Given the description of an element on the screen output the (x, y) to click on. 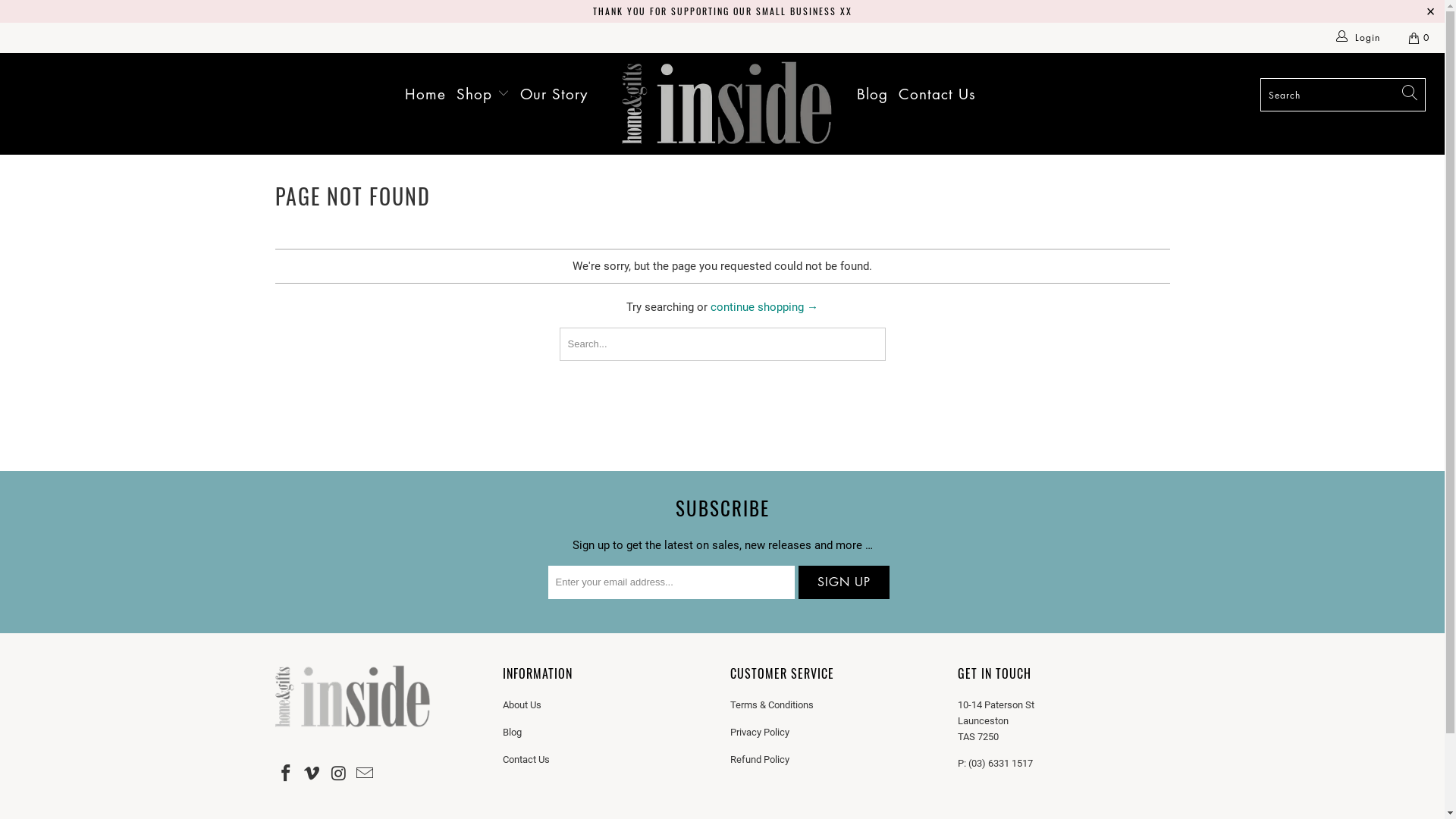
Home Element type: text (424, 93)
P: (03) 6331 1517 Element type: text (994, 762)
Terms & Conditions Element type: text (770, 704)
Our Story Element type: text (553, 93)
Inside Home & Gifts on Instagram Element type: hover (338, 774)
Contact Us Element type: text (525, 759)
About Us Element type: text (521, 704)
Inside Home & Gifts on Facebook Element type: hover (285, 774)
Blog Element type: text (511, 731)
Blog Element type: text (872, 93)
Sign Up Element type: text (842, 582)
Email Inside Home & Gifts Element type: hover (365, 774)
Privacy Policy Element type: text (758, 731)
Inside Home & Gifts Element type: hover (729, 103)
Inside Home & Gifts on Vimeo Element type: hover (312, 774)
Refund Policy Element type: text (758, 759)
Login Element type: text (1358, 37)
Contact Us Element type: text (936, 93)
Shop Element type: text (482, 93)
0 Element type: text (1419, 37)
